Given the description of an element on the screen output the (x, y) to click on. 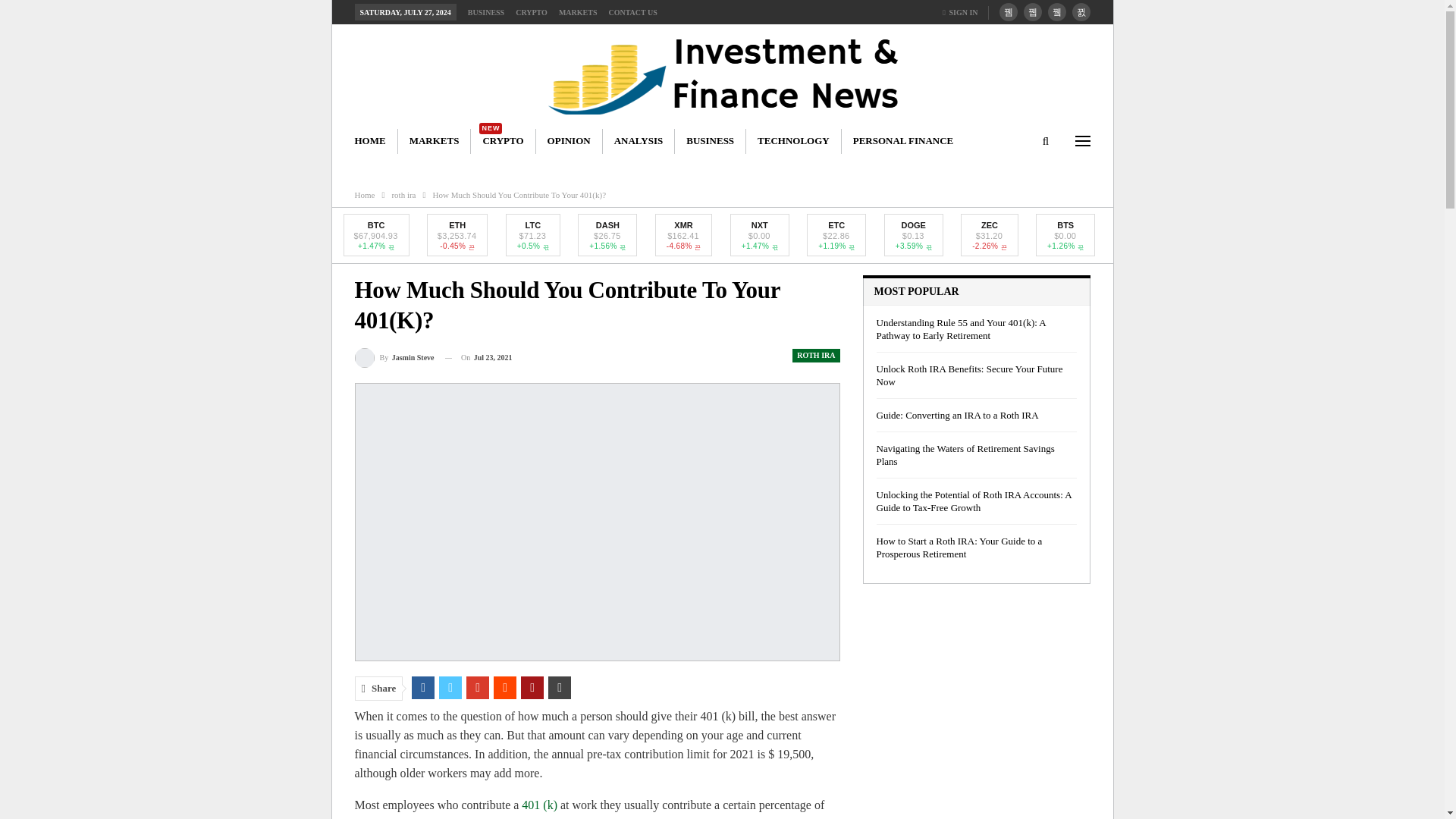
Stock Markets (528, 166)
Ethereum Classic (836, 225)
Litecoin (532, 225)
Technology (739, 166)
CONTACT US (632, 12)
Bitcoin (376, 225)
Dogecoin (913, 225)
HOME (364, 140)
Videos (919, 166)
Save (691, 166)
Nxt (759, 225)
DigitalCash (607, 225)
Stellar (876, 166)
MARKETS (577, 12)
Forex (654, 166)
